Given the description of an element on the screen output the (x, y) to click on. 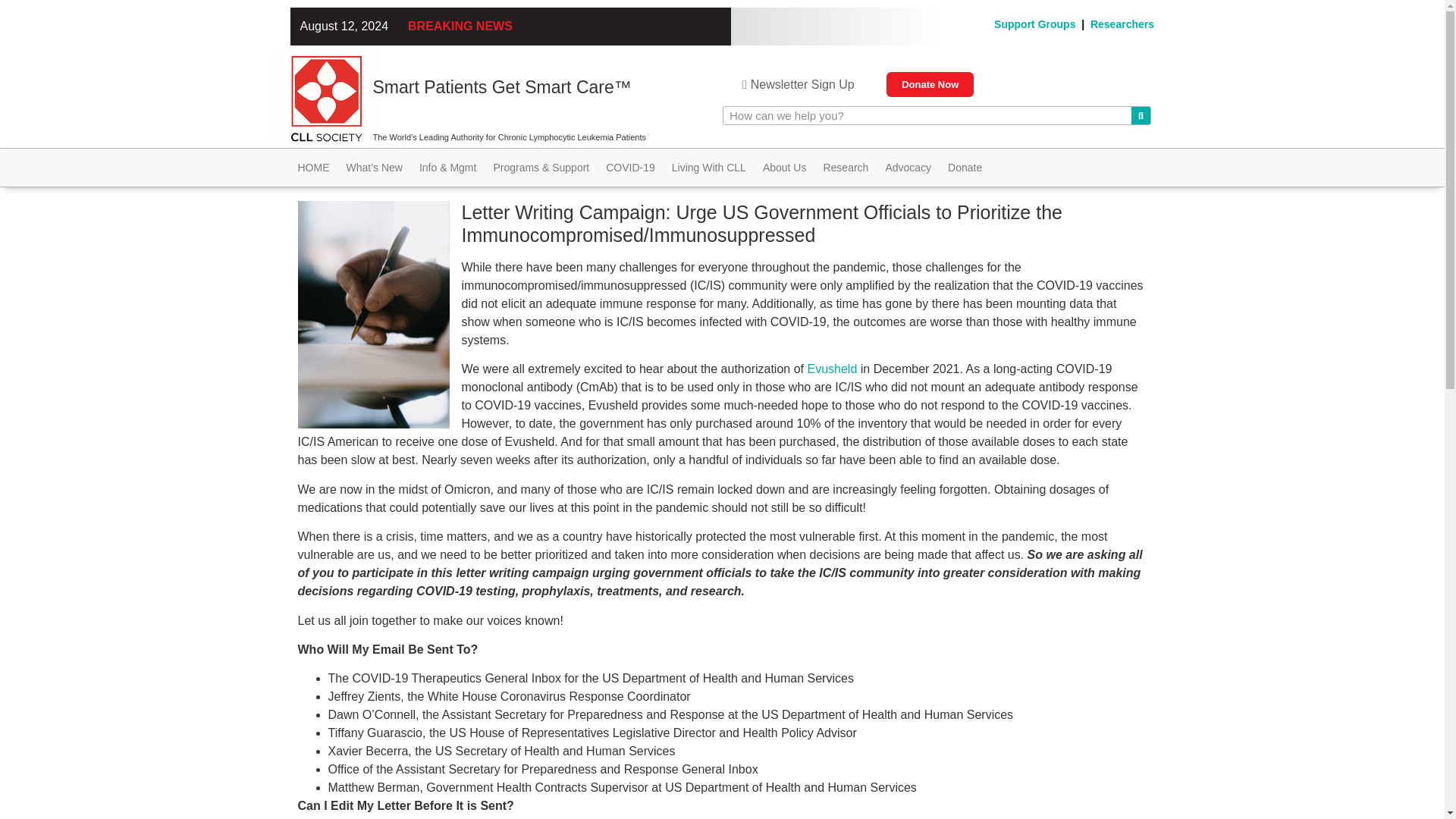
Support Groups (1034, 24)
Researchers (1122, 24)
Newsletter Sign Up (797, 84)
HOME (313, 167)
Donate Now (930, 84)
